Given the description of an element on the screen output the (x, y) to click on. 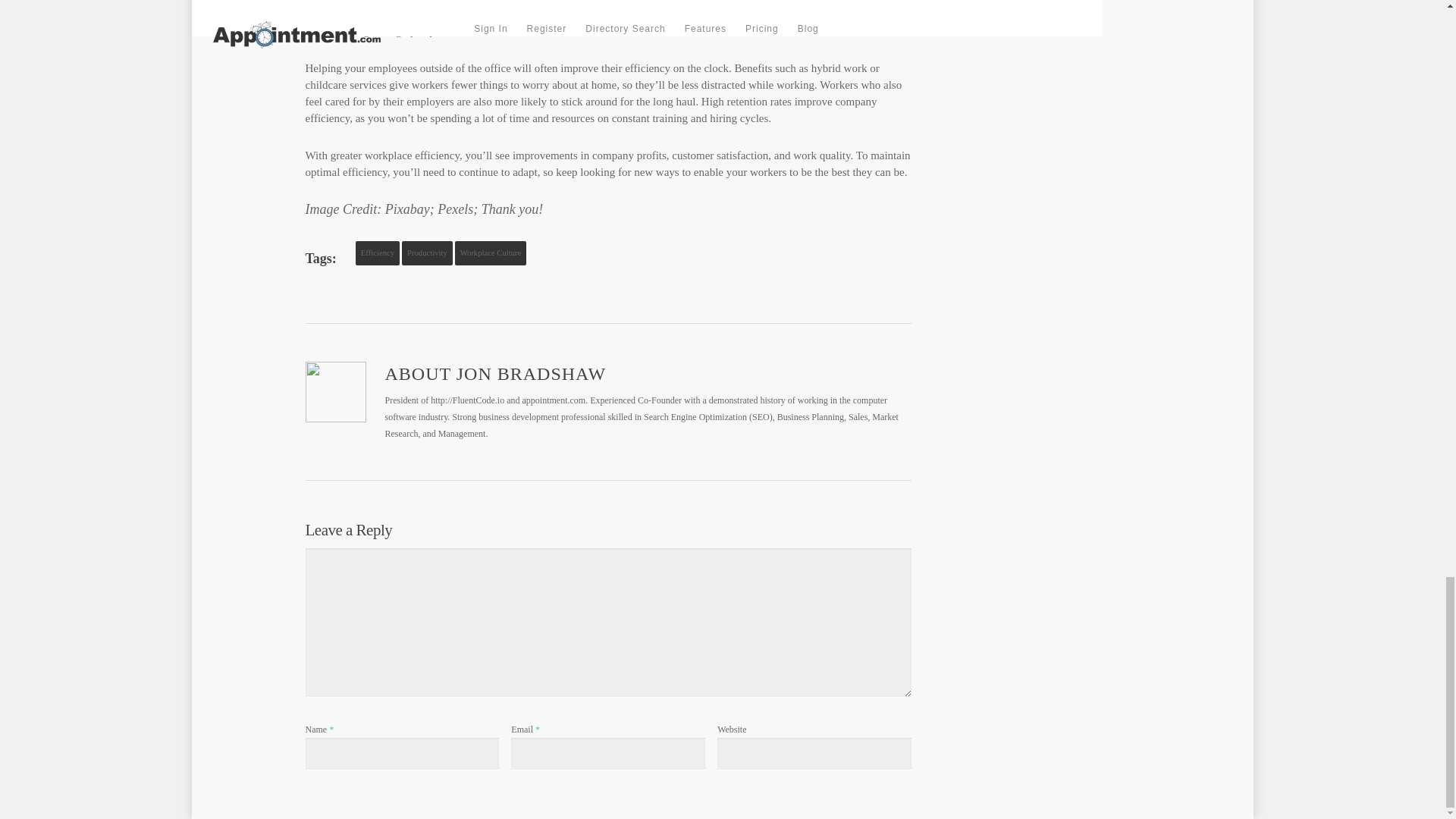
Productivity (426, 252)
Efficiency (376, 252)
Workplace Culture (490, 252)
